Given the description of an element on the screen output the (x, y) to click on. 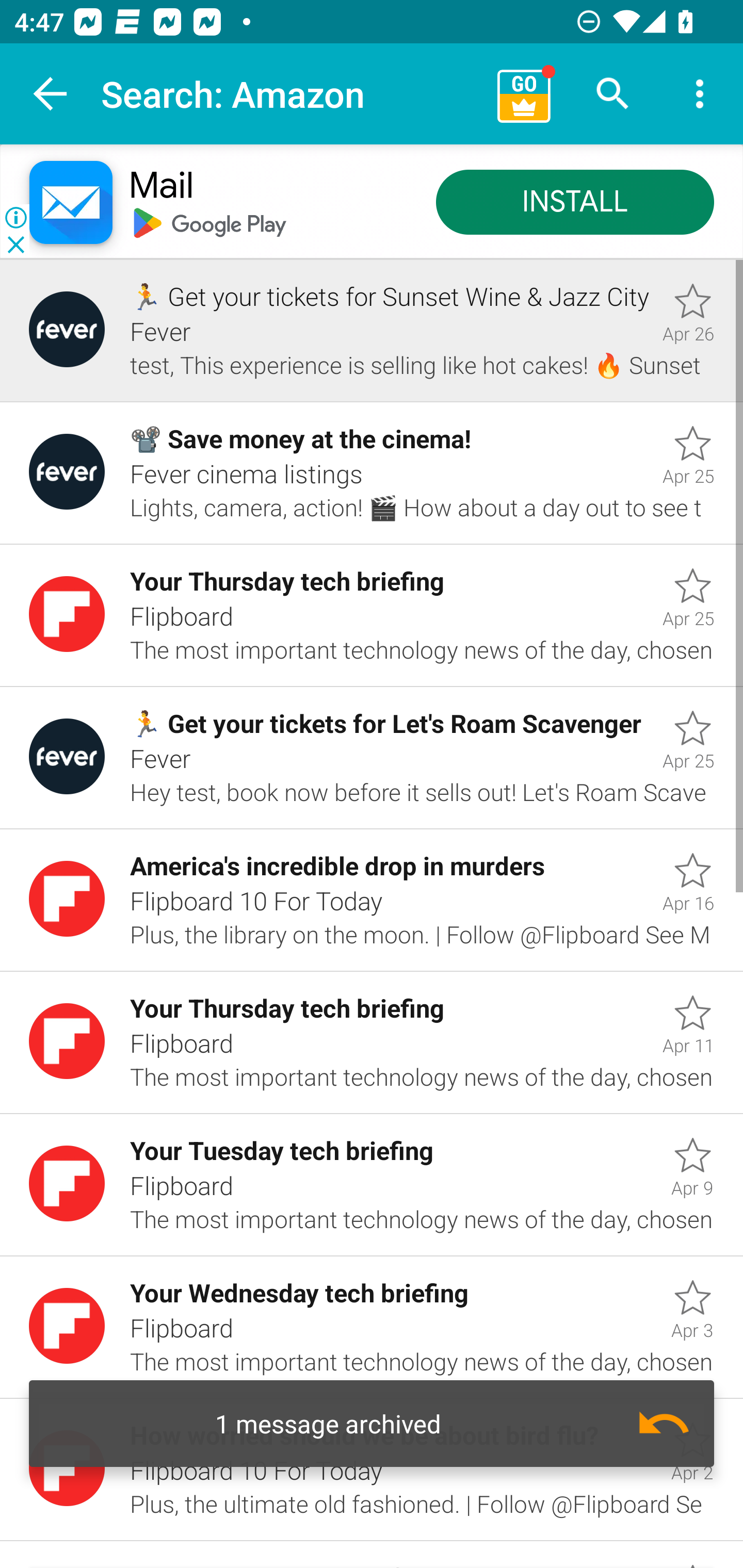
Navigate up (50, 93)
Search (612, 93)
More options (699, 93)
Mail (161, 186)
INSTALL (575, 202)
Undo 1 message archived (371, 1423)
